Given the description of an element on the screen output the (x, y) to click on. 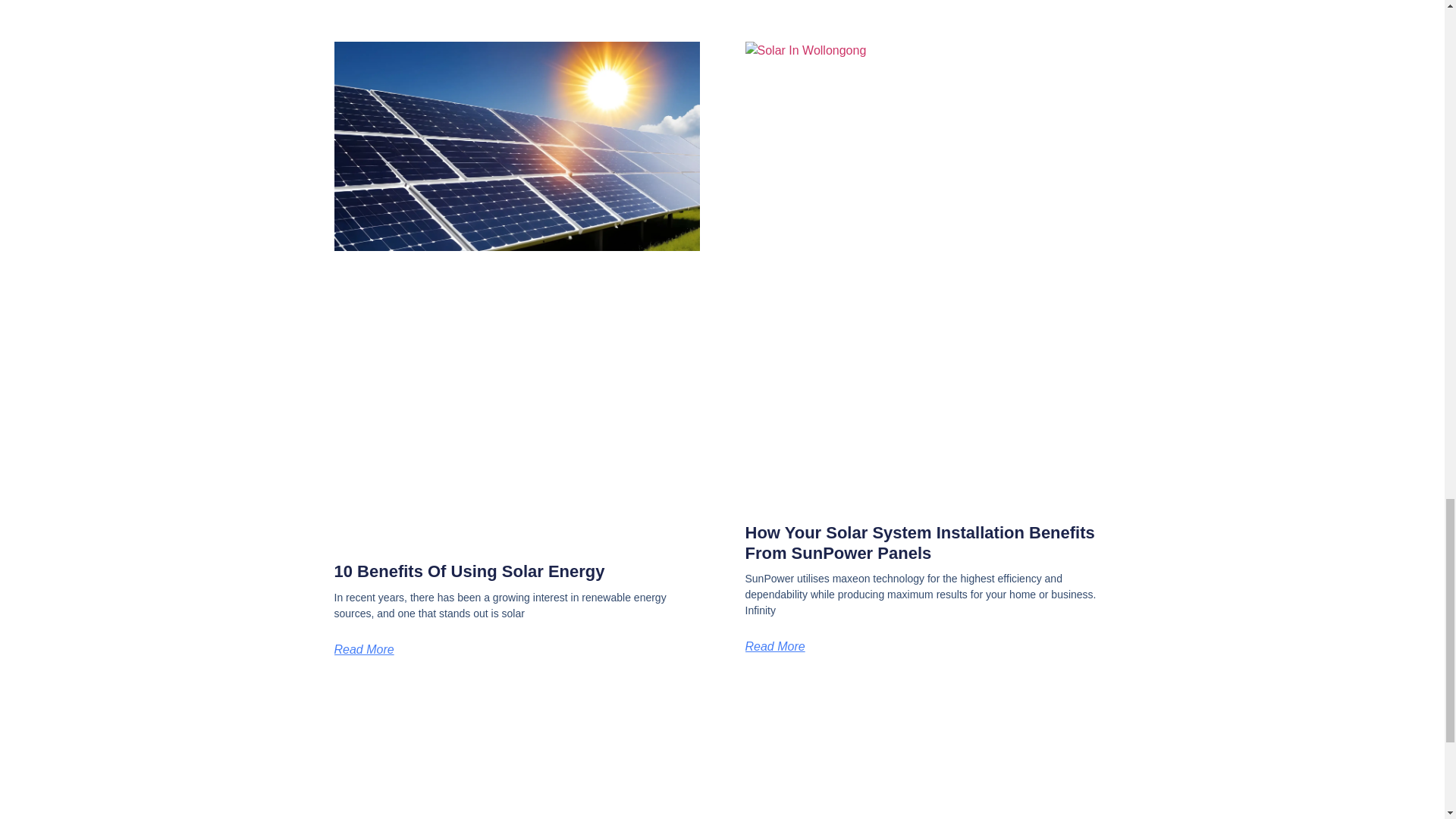
Read More (363, 649)
Read More (774, 645)
10 Benefits Of Using Solar Energy (468, 570)
